Given the description of an element on the screen output the (x, y) to click on. 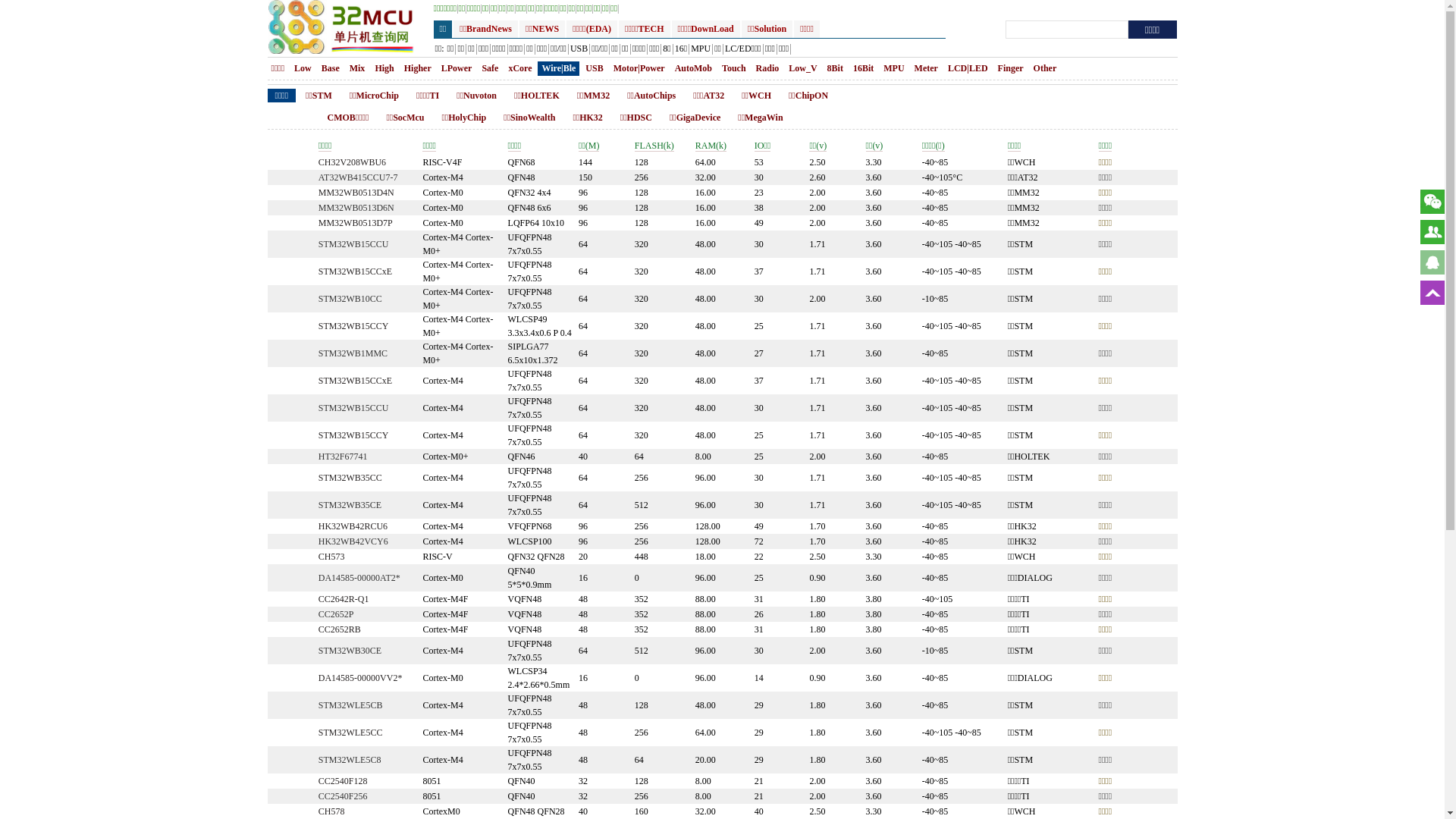
STM32WB15CCxE Element type: text (355, 380)
LCD|LED Element type: text (967, 68)
MM32WB0513D6N Element type: text (356, 207)
Mix Element type: text (357, 68)
Low_V Element type: text (802, 68)
Touch Element type: text (733, 68)
AutoMob Element type: text (693, 68)
Meter Element type: text (925, 68)
Higher Element type: text (417, 68)
STM32WLE5CB Element type: text (350, 704)
HT32F67741 Element type: text (342, 456)
Low Element type: text (302, 68)
FLASH(k) Element type: text (654, 144)
STM32WB15CCU Element type: text (353, 407)
CC2540F128 Element type: text (342, 780)
RAM(k) Element type: text (710, 144)
STM32WB10CC Element type: text (350, 298)
High Element type: text (383, 68)
LPower Element type: text (456, 68)
Radio Element type: text (767, 68)
Safe Element type: text (489, 68)
STM32WB15CCxE Element type: text (355, 271)
STM32WB1MMC Element type: text (352, 353)
CC2652P Element type: text (336, 613)
Motor|Power Element type: text (638, 68)
Other Element type: text (1044, 68)
STM32WB15CCU Element type: text (353, 243)
AT32WB415CCU7-7 Element type: text (358, 177)
Finger Element type: text (1010, 68)
CH32V208WBU6 Element type: text (351, 161)
STM32WB15CCY Element type: text (353, 325)
16Bit Element type: text (863, 68)
STM32WLE5CC Element type: text (350, 732)
HK32WB42RCU6 Element type: text (352, 525)
STM32WB15CCY Element type: text (353, 434)
CH578 Element type: text (331, 811)
STM32WB35CE Element type: text (349, 504)
USB Element type: text (578, 49)
MPU Element type: text (893, 68)
HK32WB42VCY6 Element type: text (353, 541)
MPU Element type: text (700, 49)
USB Element type: text (593, 68)
STM32WB35CC Element type: text (350, 477)
CH573 Element type: text (331, 556)
CC2652RB Element type: text (339, 629)
STM32WB30CE Element type: text (349, 650)
Wire|Ble Element type: text (559, 68)
MM32WB0513D4N Element type: text (356, 192)
STM32WLE5C8 Element type: text (349, 759)
CC2642R-Q1 Element type: text (343, 598)
DA14585-00000VV2* Element type: text (360, 677)
Base Element type: text (330, 68)
CC2540F256 Element type: text (342, 795)
xCore Element type: text (519, 68)
8Bit Element type: text (835, 68)
DA14585-00000AT2* Element type: text (359, 577)
MM32WB0513D7P Element type: text (355, 222)
